Given the description of an element on the screen output the (x, y) to click on. 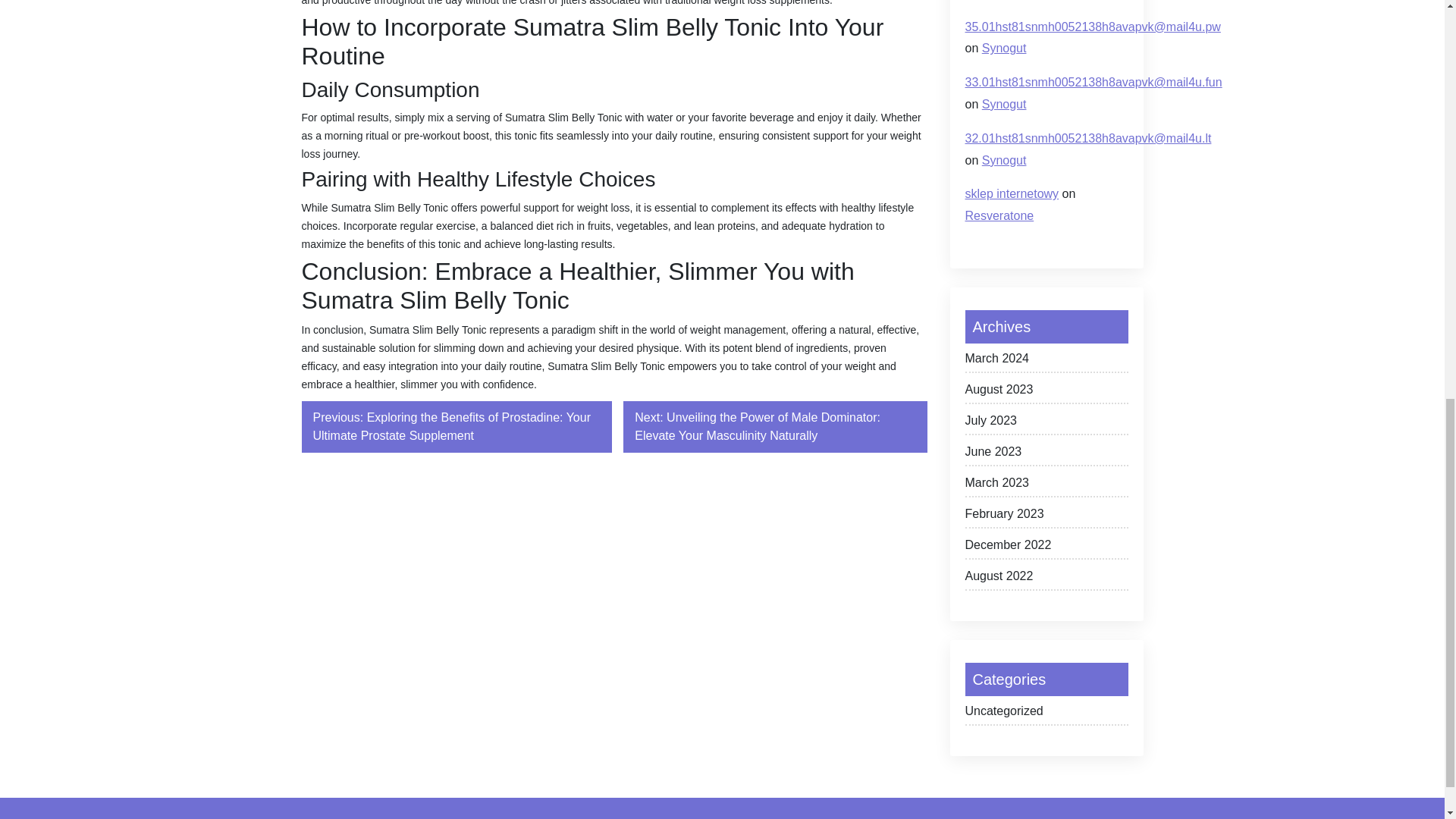
Synogut (1003, 103)
Resveratone (998, 215)
March 2024 (1044, 361)
Synogut (1003, 160)
February 2023 (1044, 516)
Uncategorized (1044, 713)
December 2022 (1044, 547)
August 2023 (1044, 392)
August 2022 (1044, 578)
July 2023 (1044, 422)
June 2023 (1044, 454)
Synogut (1003, 47)
March 2023 (1044, 485)
